Given the description of an element on the screen output the (x, y) to click on. 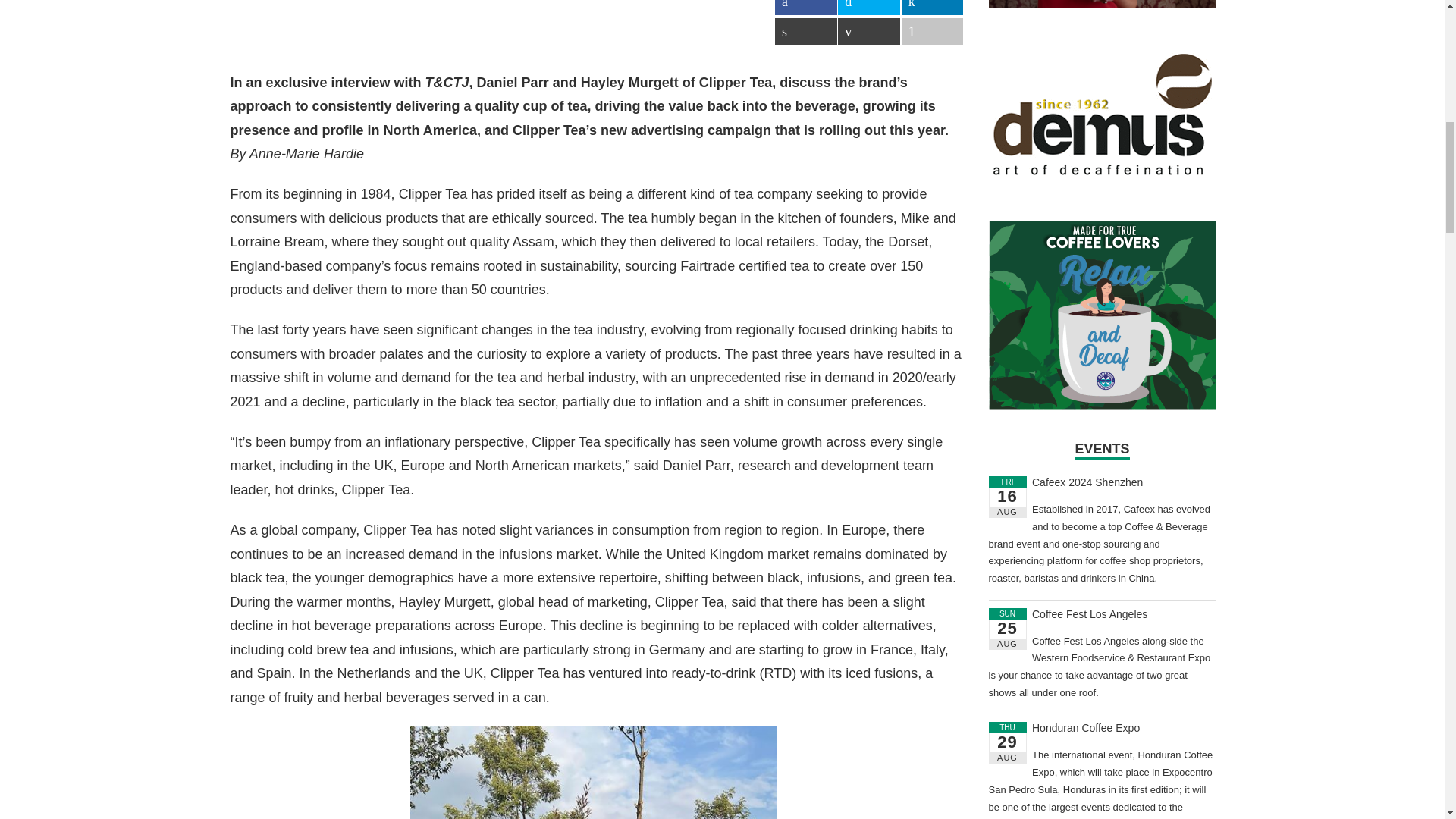
Share on Facebook (805, 7)
Share on Twitter (868, 7)
Share on Print (805, 31)
Share on LinkedIn (932, 7)
Share on Email (868, 31)
Share on More Button (932, 31)
